Given the description of an element on the screen output the (x, y) to click on. 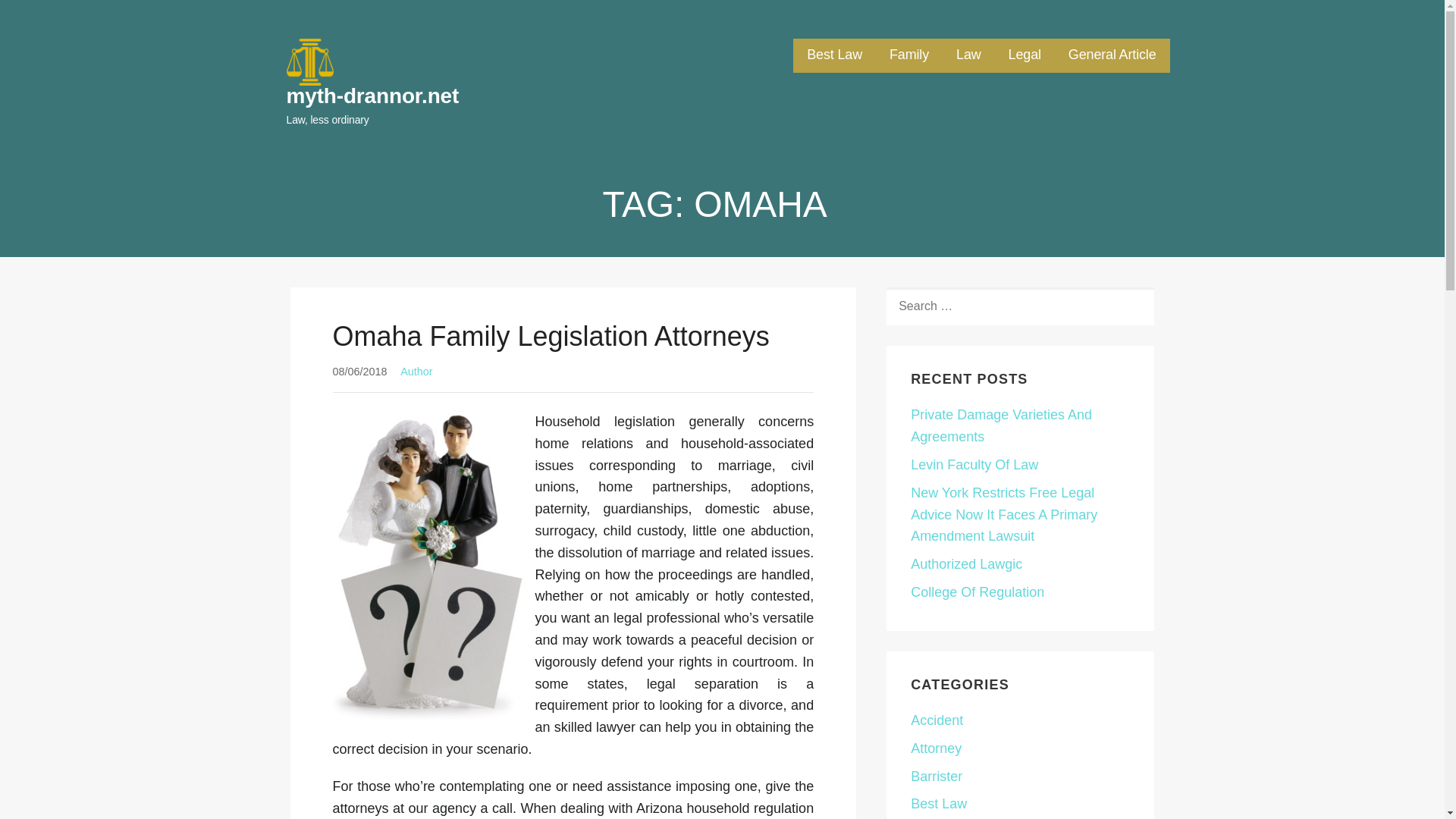
Search (47, 17)
Legal (1025, 55)
Best Law (833, 55)
Posts by Author (416, 371)
Omaha Family Legislation Attorneys (549, 336)
Private Damage Varieties And Agreements (1001, 425)
myth-drannor.net (373, 95)
General Article (1112, 55)
Author (416, 371)
Family (908, 55)
